Given the description of an element on the screen output the (x, y) to click on. 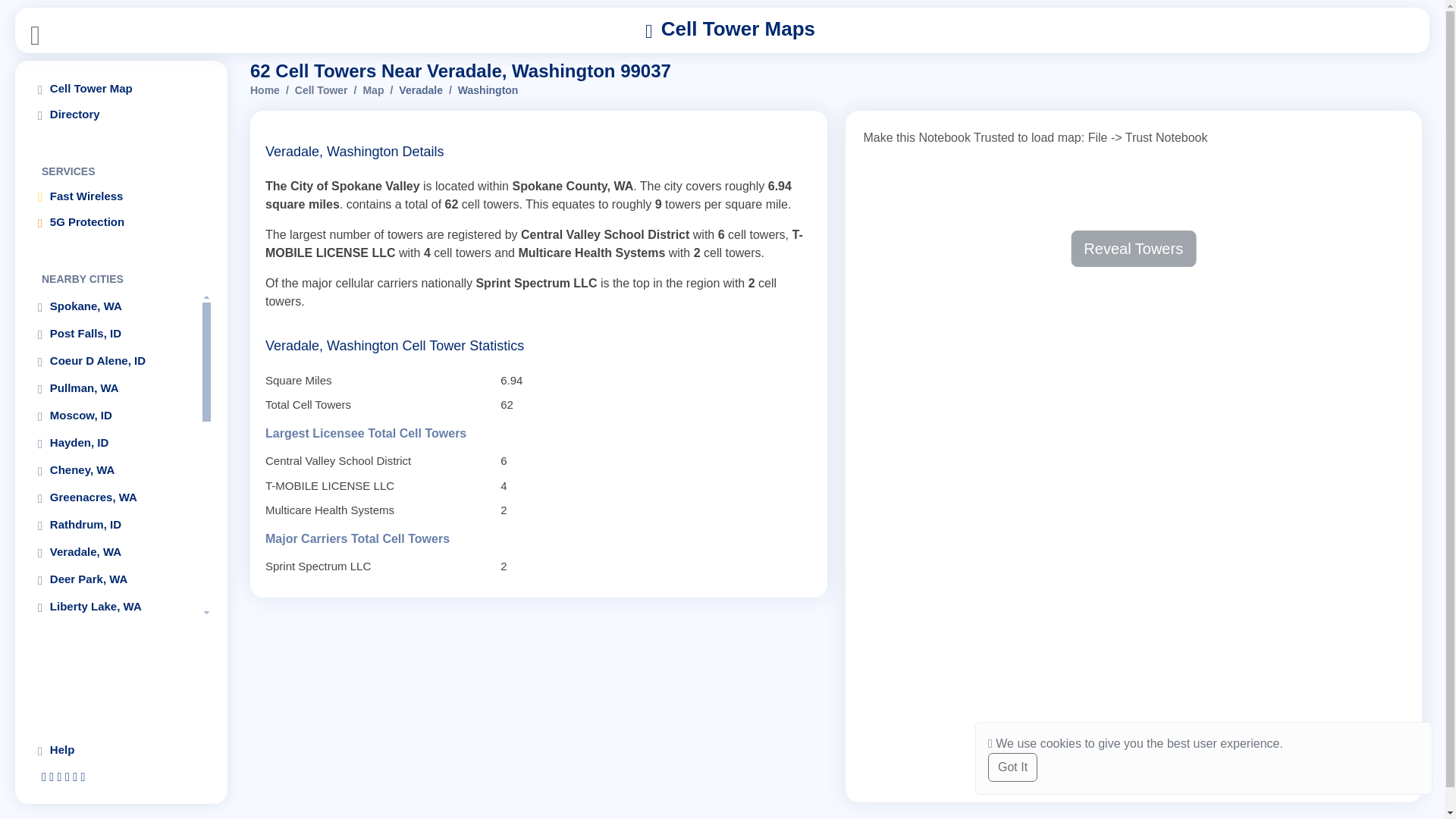
Nine Mile Falls, WA (115, 715)
Colbert, WA (115, 633)
5G Protection (121, 222)
Spokane, WA (115, 306)
Liberty Lake, WA (115, 606)
Directory (121, 114)
Medical Lake, WA (115, 688)
Fast Wireless (121, 196)
Veradale, WA (115, 551)
Deer Park, WA (115, 579)
Pullman, WA (115, 387)
Coeur D Alene, ID (115, 360)
Greenacres, WA (115, 497)
Rathdrum, ID (115, 524)
Cell Tower Maps (730, 30)
